Given the description of an element on the screen output the (x, y) to click on. 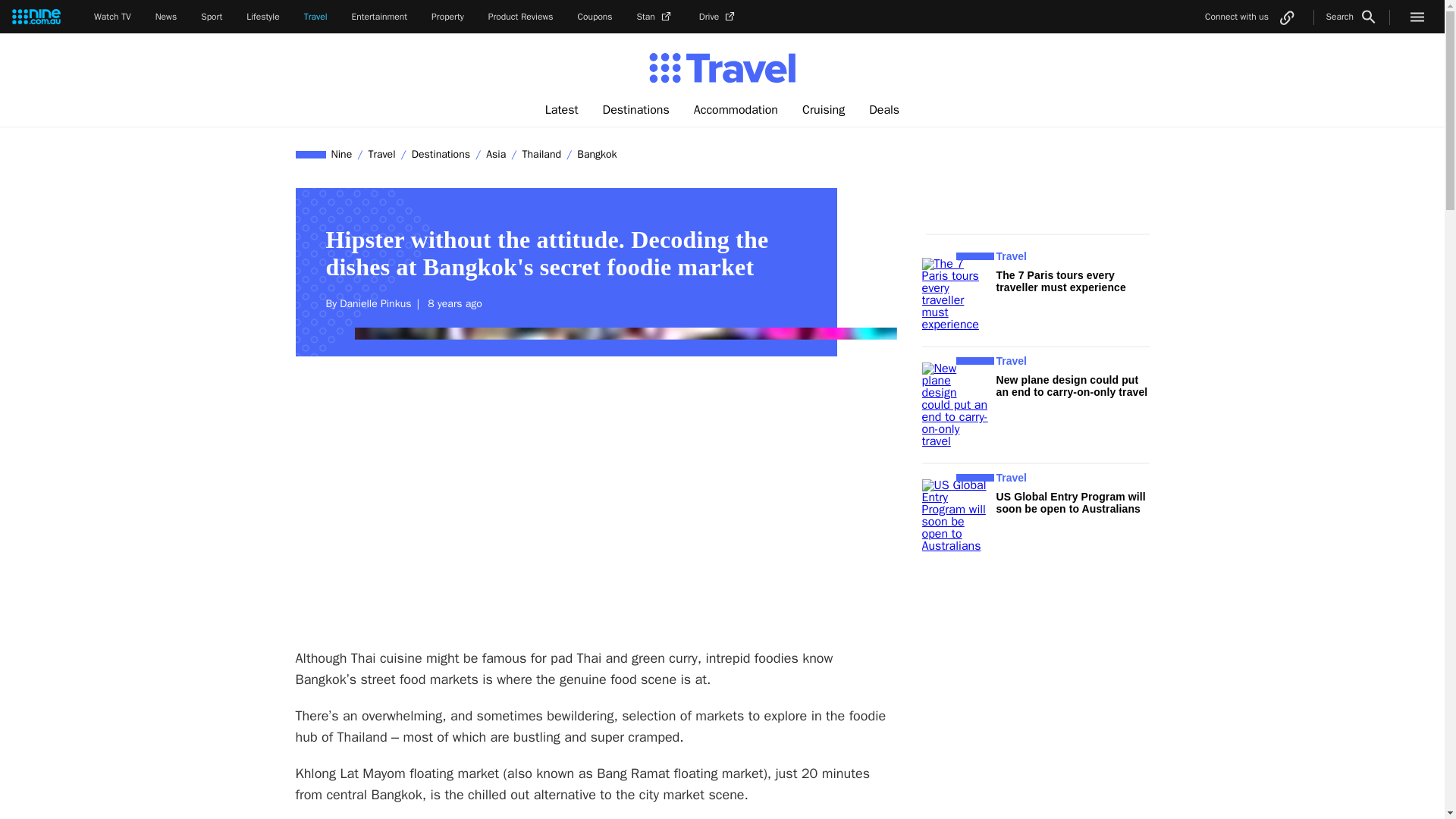
Cruising (823, 109)
Stan (656, 16)
Deals (884, 109)
Destinations (636, 109)
Entertainment (379, 16)
Nine (342, 154)
Asia (495, 154)
Product Reviews (520, 16)
Bangkok (596, 154)
Thailand (541, 154)
